Given the description of an element on the screen output the (x, y) to click on. 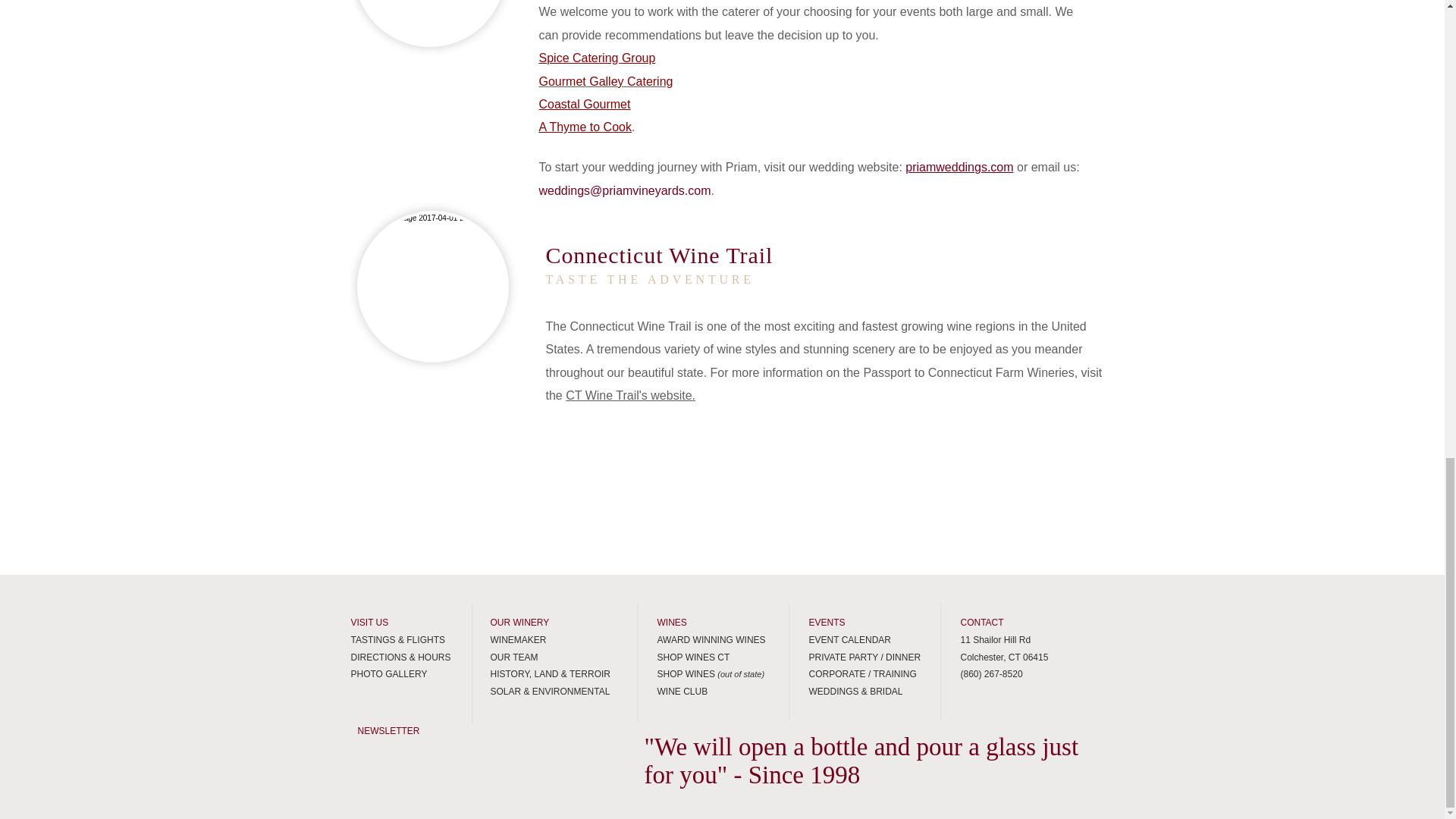
Spice Catering Group (596, 57)
